Given the description of an element on the screen output the (x, y) to click on. 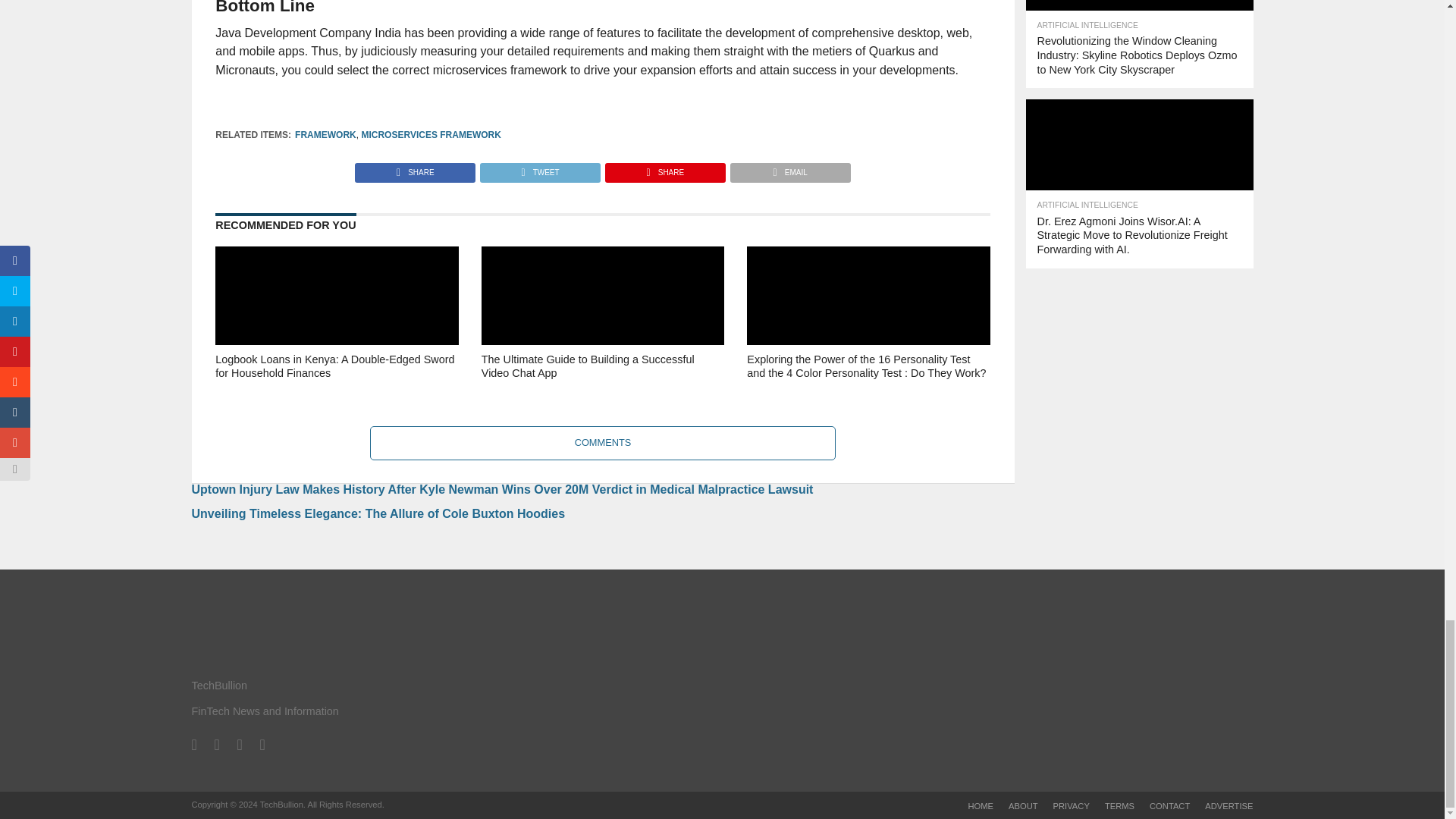
Share on Facebook (415, 168)
Pin This Post (664, 168)
Tweet This Post (539, 168)
The Ultimate Guide to Building a Successful Video Chat App (602, 387)
